Given the description of an element on the screen output the (x, y) to click on. 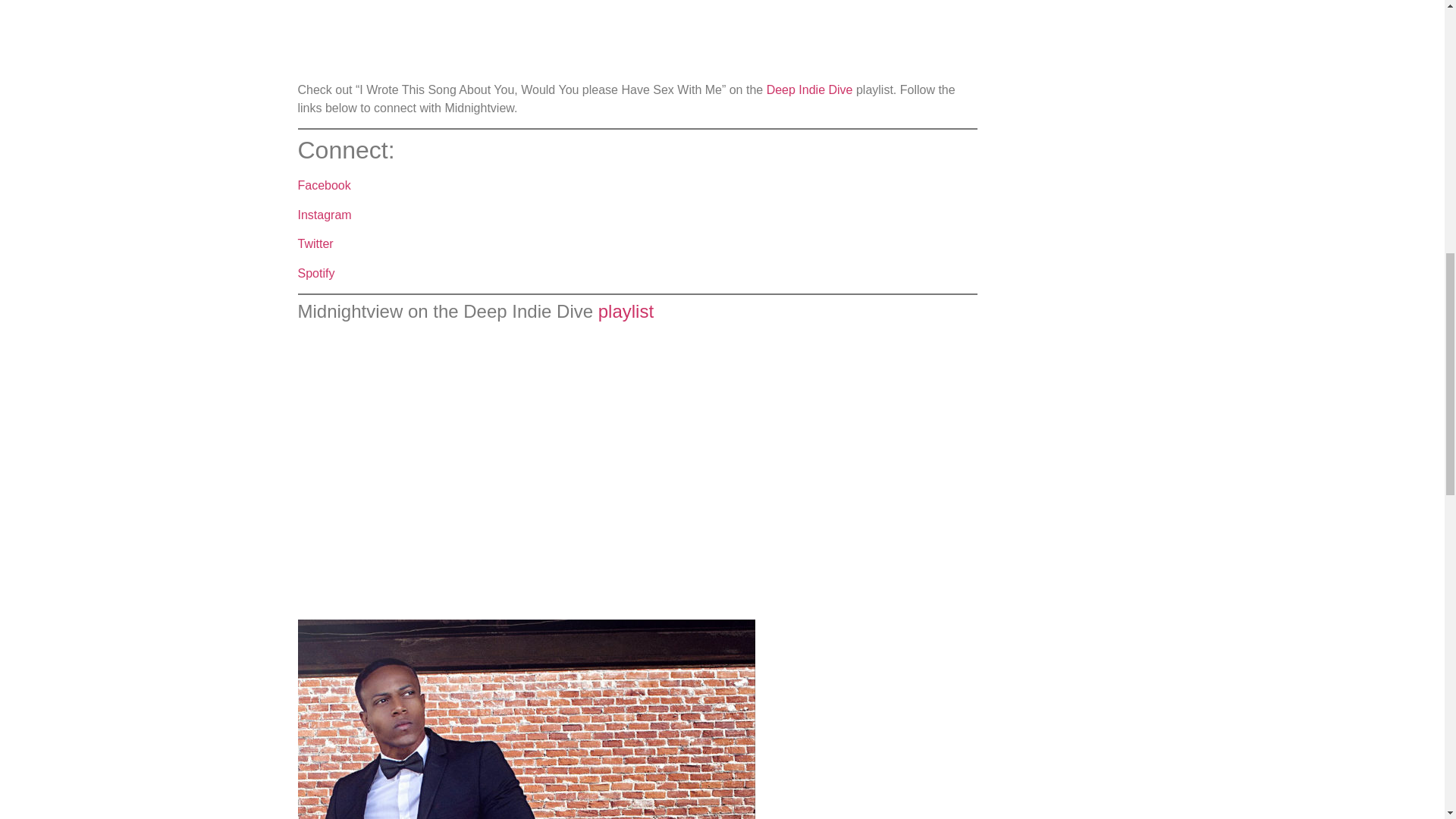
Facebook (323, 185)
playlist (625, 311)
Instagram (323, 214)
Twitter (315, 243)
Spotify (315, 273)
Deep Indie Dive (810, 89)
